Given the description of an element on the screen output the (x, y) to click on. 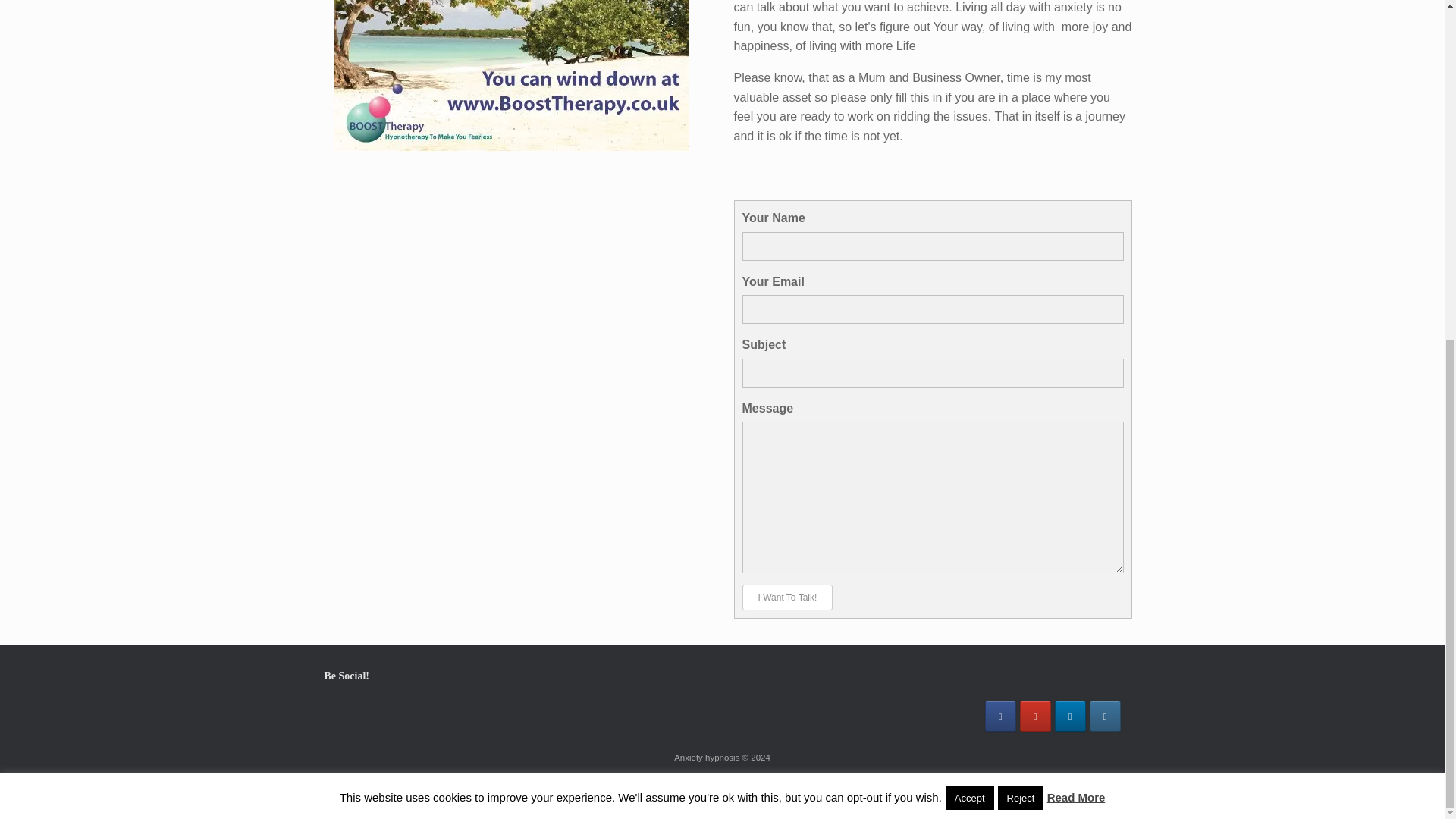
Reject (1020, 223)
Read More (1075, 222)
Boost Therapy Instagram (1104, 716)
SiteOrigin (711, 788)
Accept (969, 223)
LinkedIn (1070, 716)
Facebook (1000, 716)
I Want To Talk! (786, 597)
